Given the description of an element on the screen output the (x, y) to click on. 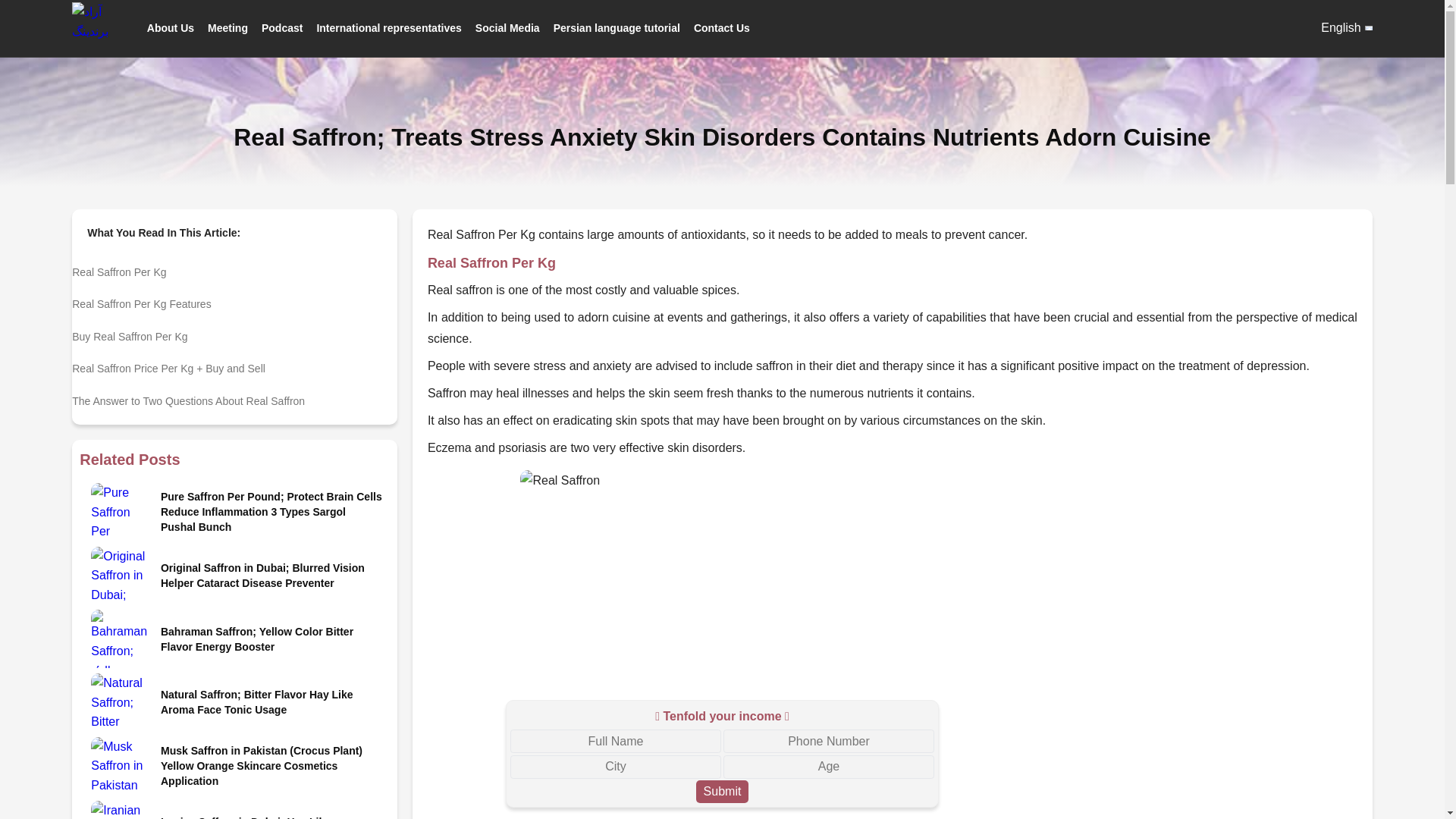
The Answer to Two Questions About Real Saffron (234, 396)
Buy Real Saffron Per Kg (234, 332)
International representatives (388, 27)
Bahraman Saffron; Yellow Color Bitter Flavor Energy Booster (270, 639)
Contact Us (721, 27)
Real Saffron Per Kg Features (234, 300)
Social Media (508, 27)
About Us (170, 27)
Persian language tutorial (616, 27)
Podcast (282, 27)
Real Saffron Per Kg (234, 268)
